Given the description of an element on the screen output the (x, y) to click on. 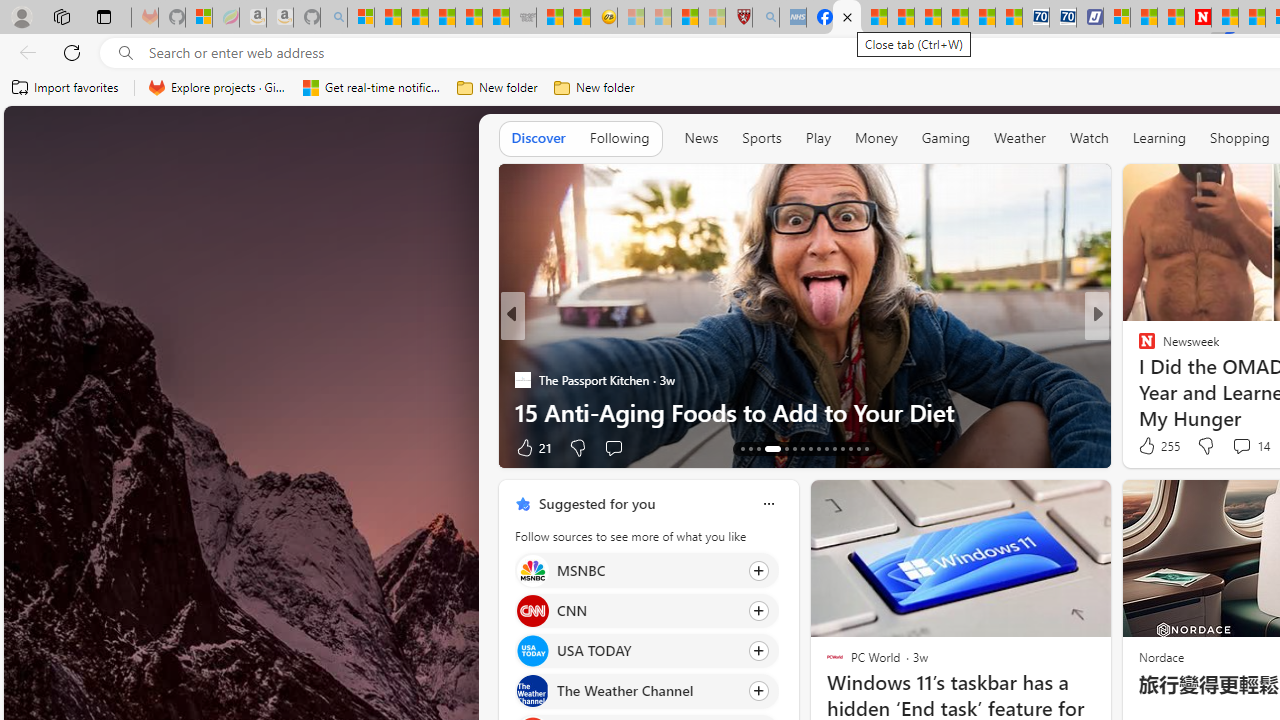
Suggested for you (596, 503)
XDA Developers (1138, 347)
The Weather Channel - MSN (414, 17)
AutomationID: tab-67 (750, 448)
AutomationID: tab-92 (865, 448)
Learning (1159, 138)
577 Like (1151, 447)
The Weather Channel (532, 691)
2k Like (1148, 447)
